Given the description of an element on the screen output the (x, y) to click on. 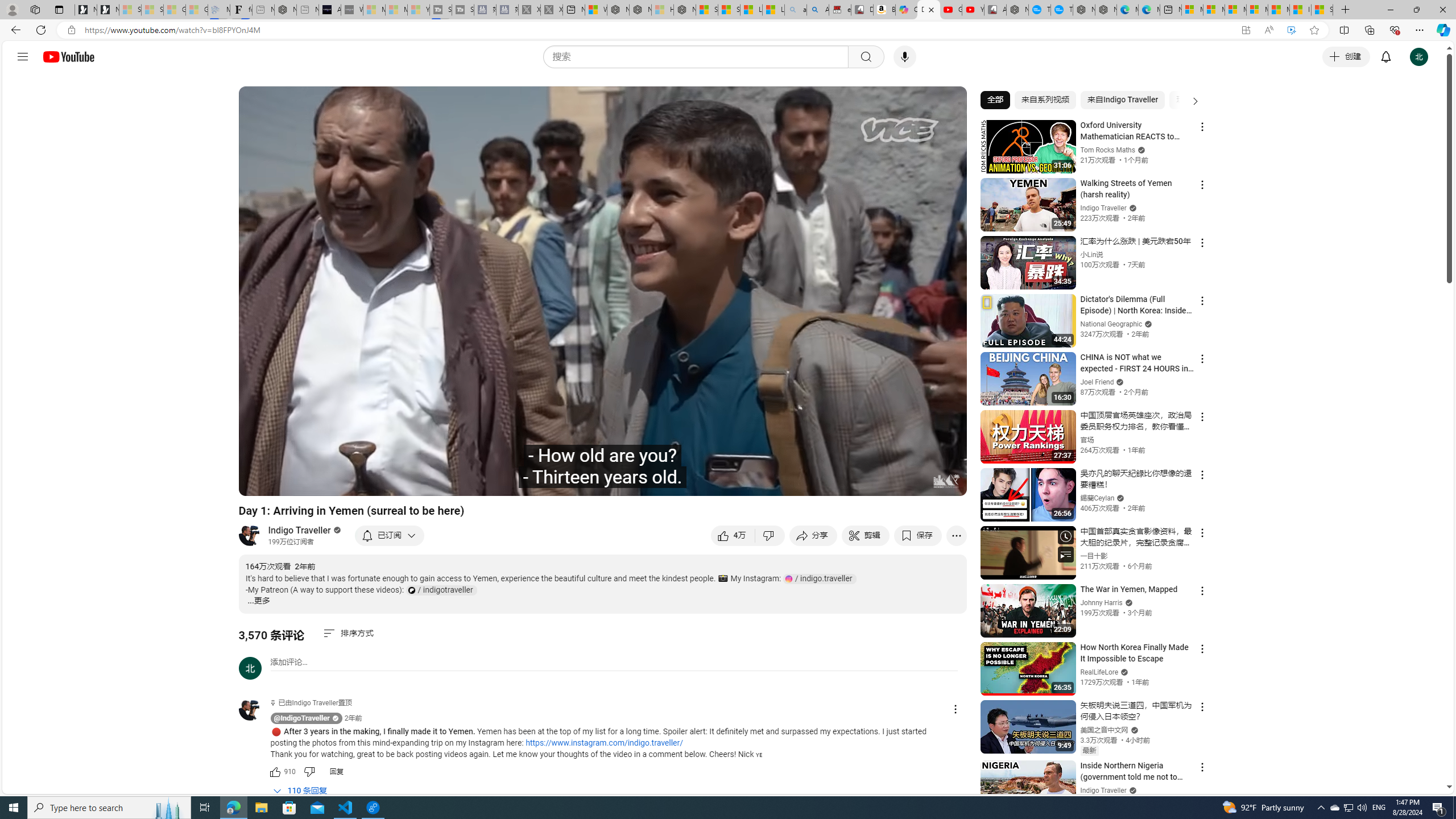
Amazon Echo Dot PNG - Search Images (818, 9)
Nordace - Nordace Siena Is Not An Ordinary Backpack (684, 9)
